Given the description of an element on the screen output the (x, y) to click on. 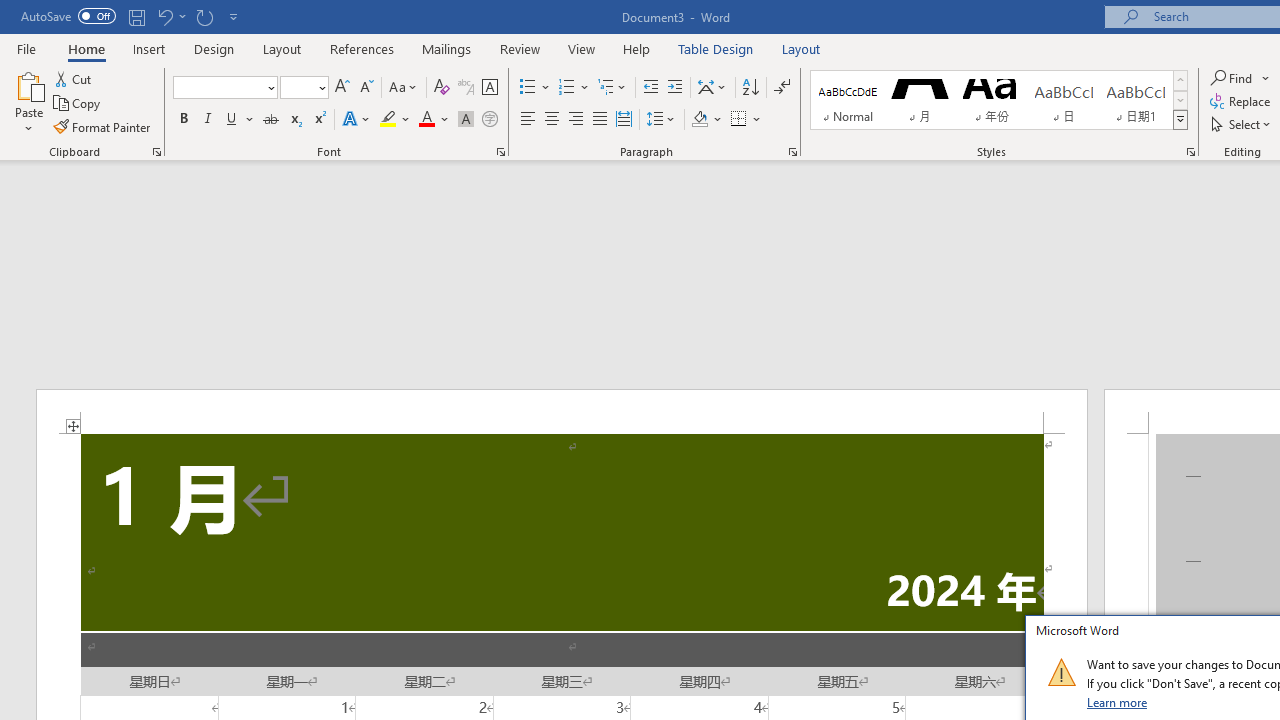
Justify (599, 119)
Character Border (489, 87)
Shading (706, 119)
Decrease Indent (650, 87)
Enclose Characters... (489, 119)
File Tab (26, 48)
Text Highlight Color Yellow (388, 119)
View (582, 48)
More Options (1266, 78)
Borders (739, 119)
Multilevel List (613, 87)
Asian Layout (712, 87)
AutoSave (68, 16)
